Given the description of an element on the screen output the (x, y) to click on. 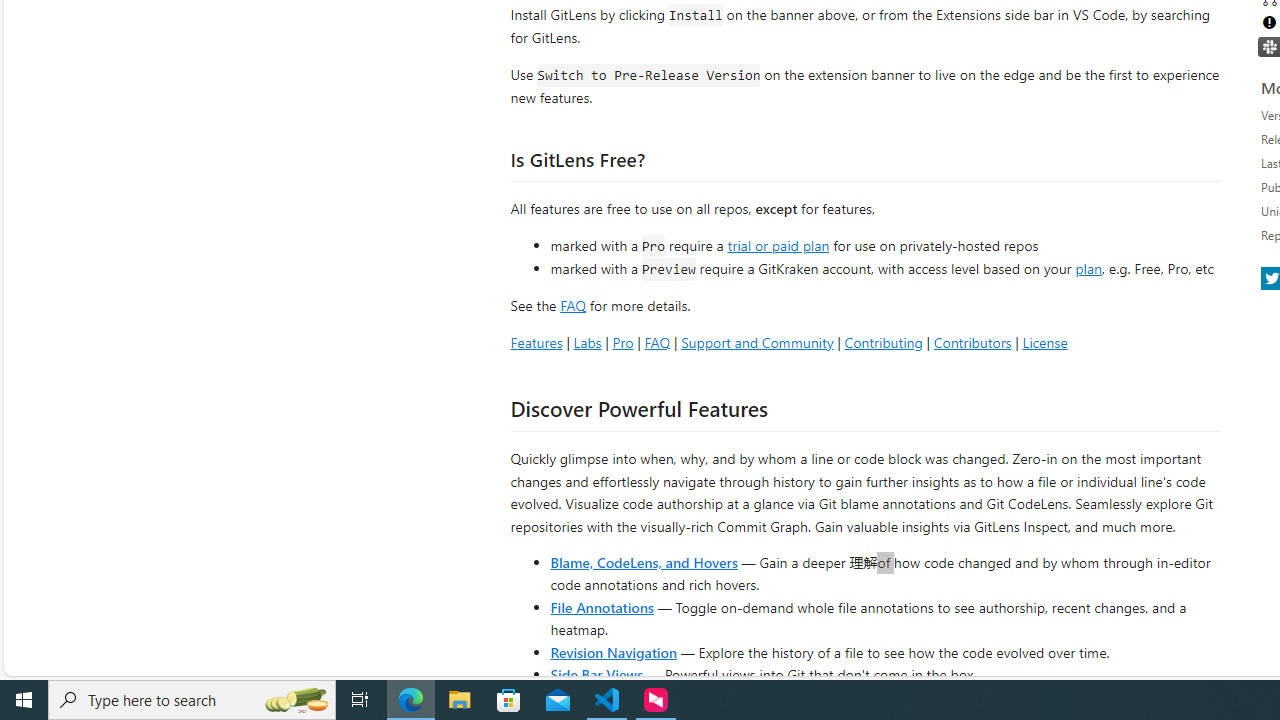
File Annotations (602, 606)
Pro (622, 341)
Contributing (882, 341)
FAQ (656, 341)
